Given the description of an element on the screen output the (x, y) to click on. 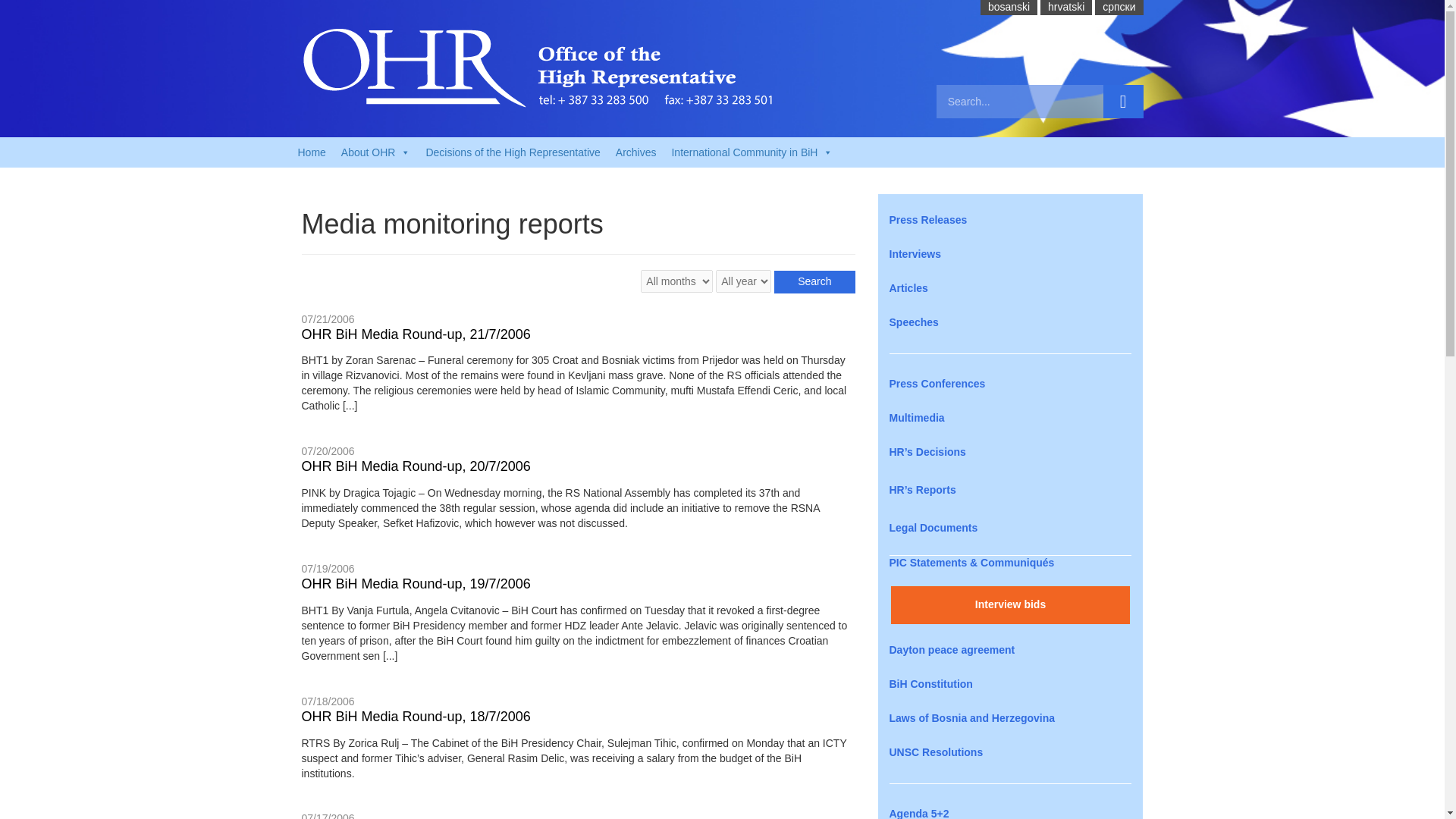
Decisions of the High Representative (512, 152)
Home (311, 152)
About OHR (376, 152)
Search (1122, 101)
bosanski (1007, 6)
Search (814, 282)
hrvatski (1066, 6)
International Community in BiH (751, 152)
Search (814, 282)
Archives (635, 152)
